Given the description of an element on the screen output the (x, y) to click on. 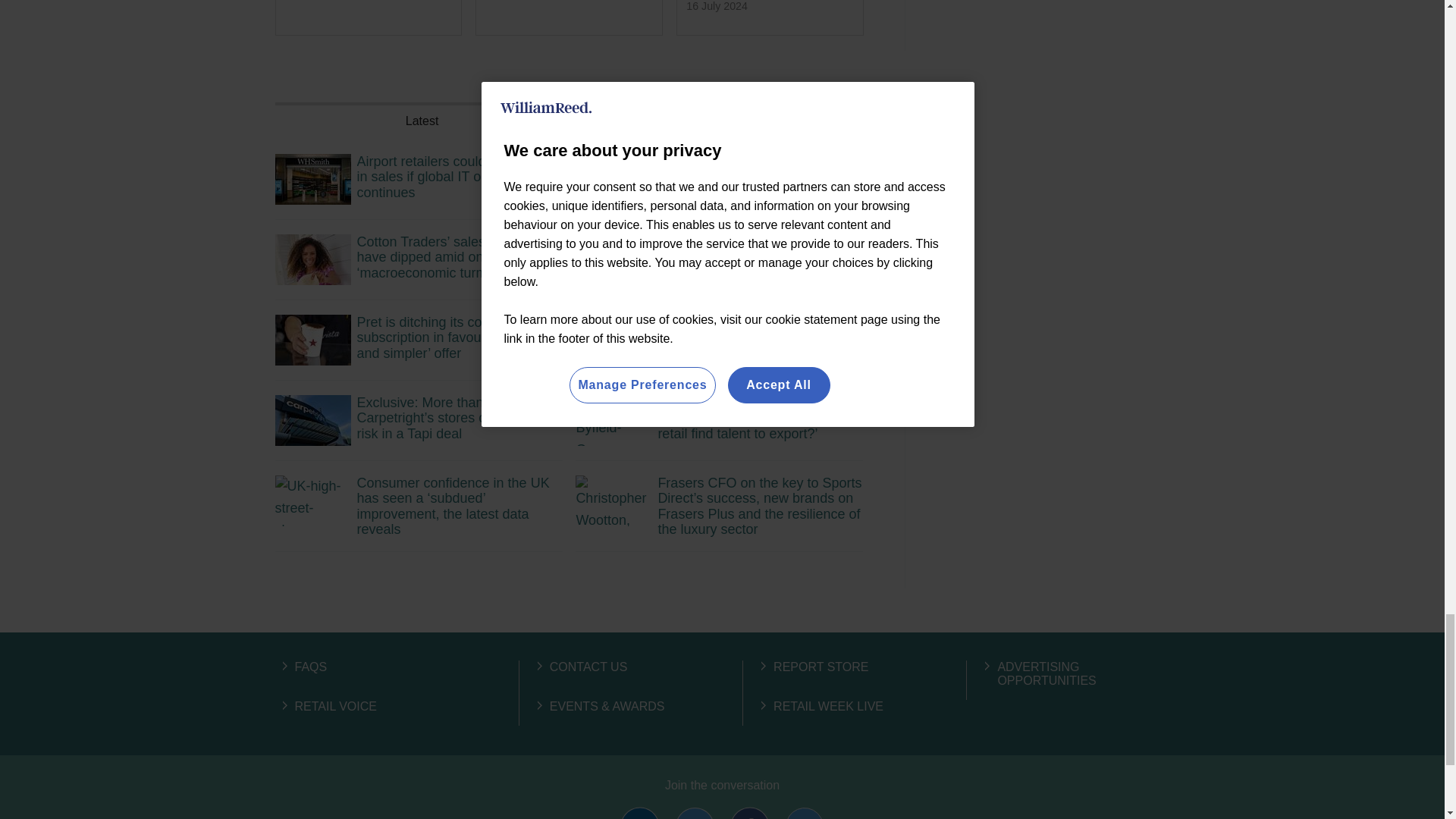
Connect with us on Facebook (750, 812)
Connect with us on X (694, 812)
Connect with us on LinkedIn (639, 812)
Connect with us on Instagram (804, 812)
